Given the description of an element on the screen output the (x, y) to click on. 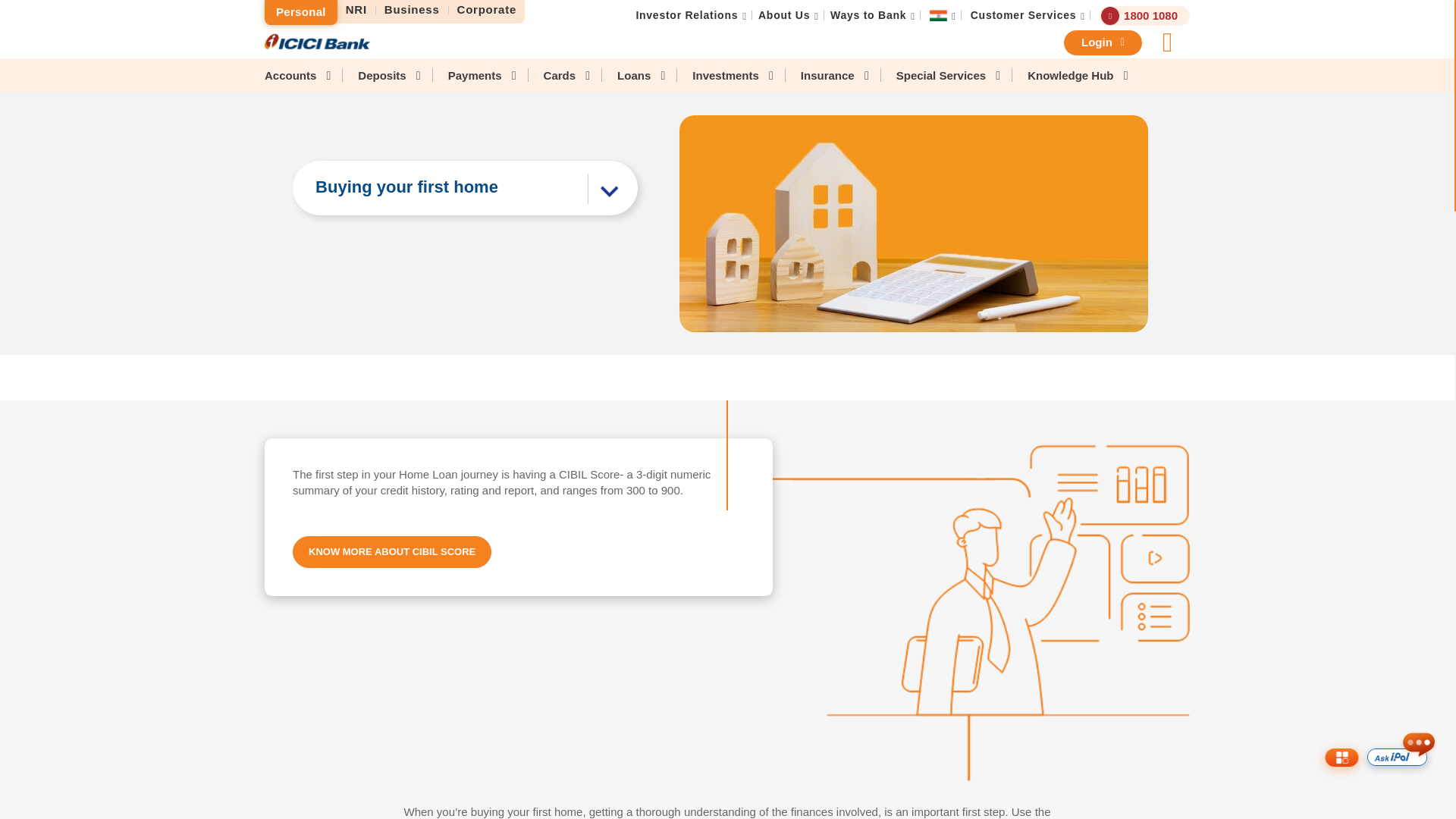
NRI (356, 9)
Investor Relations (686, 15)
Customer Services (1024, 15)
Business (411, 9)
Corporate (486, 9)
Ways to Bank (867, 15)
About Us (783, 15)
Personal (300, 12)
